Given the description of an element on the screen output the (x, y) to click on. 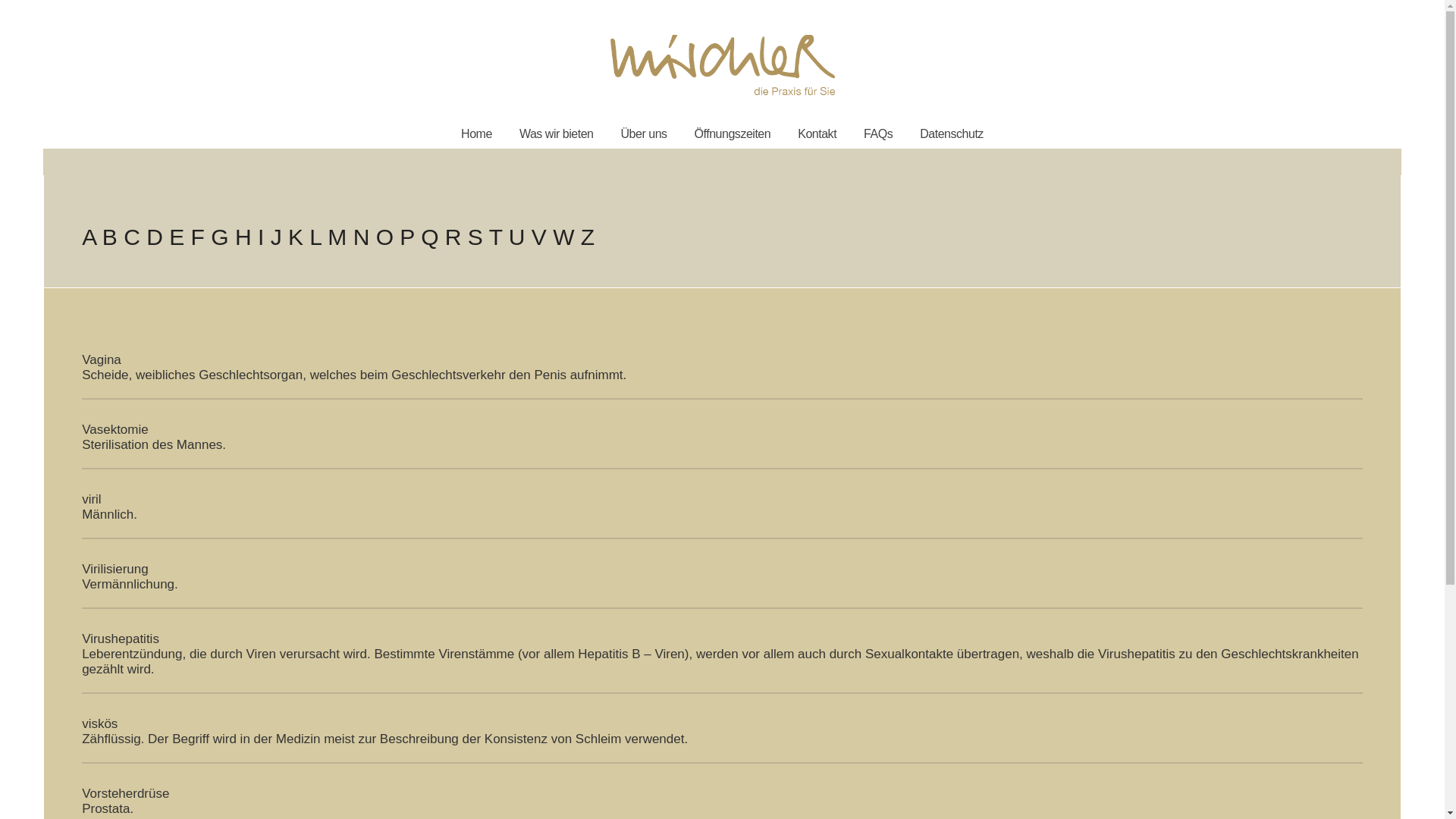
O Element type: text (384, 236)
FAQs Element type: text (878, 133)
W Element type: text (563, 236)
I Element type: text (260, 236)
F Element type: text (197, 236)
Q Element type: text (429, 236)
G Element type: text (219, 236)
P Element type: text (406, 236)
N Element type: text (361, 236)
Z Element type: text (587, 236)
E Element type: text (176, 236)
B Element type: text (109, 236)
A Element type: text (88, 236)
K Element type: text (295, 236)
C Element type: text (131, 236)
Datenschutz Element type: text (951, 133)
T Element type: text (495, 236)
V Element type: text (538, 236)
U Element type: text (516, 236)
Kontakt Element type: text (817, 133)
M Element type: text (336, 236)
S Element type: text (475, 236)
L Element type: text (315, 236)
D Element type: text (154, 236)
J Element type: text (276, 236)
H Element type: text (243, 236)
R Element type: text (453, 236)
Home Element type: text (476, 133)
Was wir bieten Element type: text (556, 133)
